Given the description of an element on the screen output the (x, y) to click on. 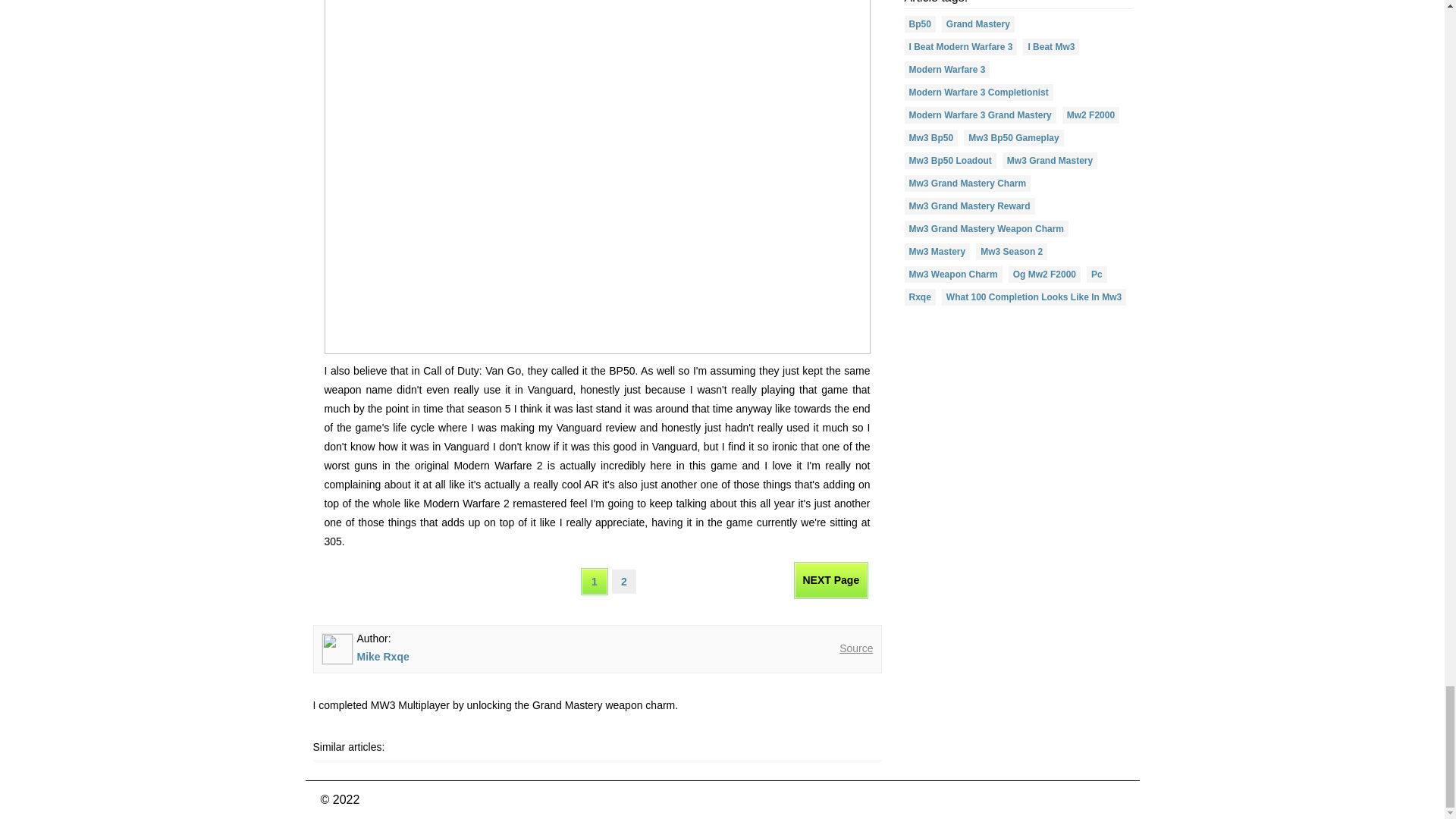
Mike Rxqe (382, 656)
NEXT Page (830, 580)
1 (593, 581)
2 (623, 581)
